Given the description of an element on the screen output the (x, y) to click on. 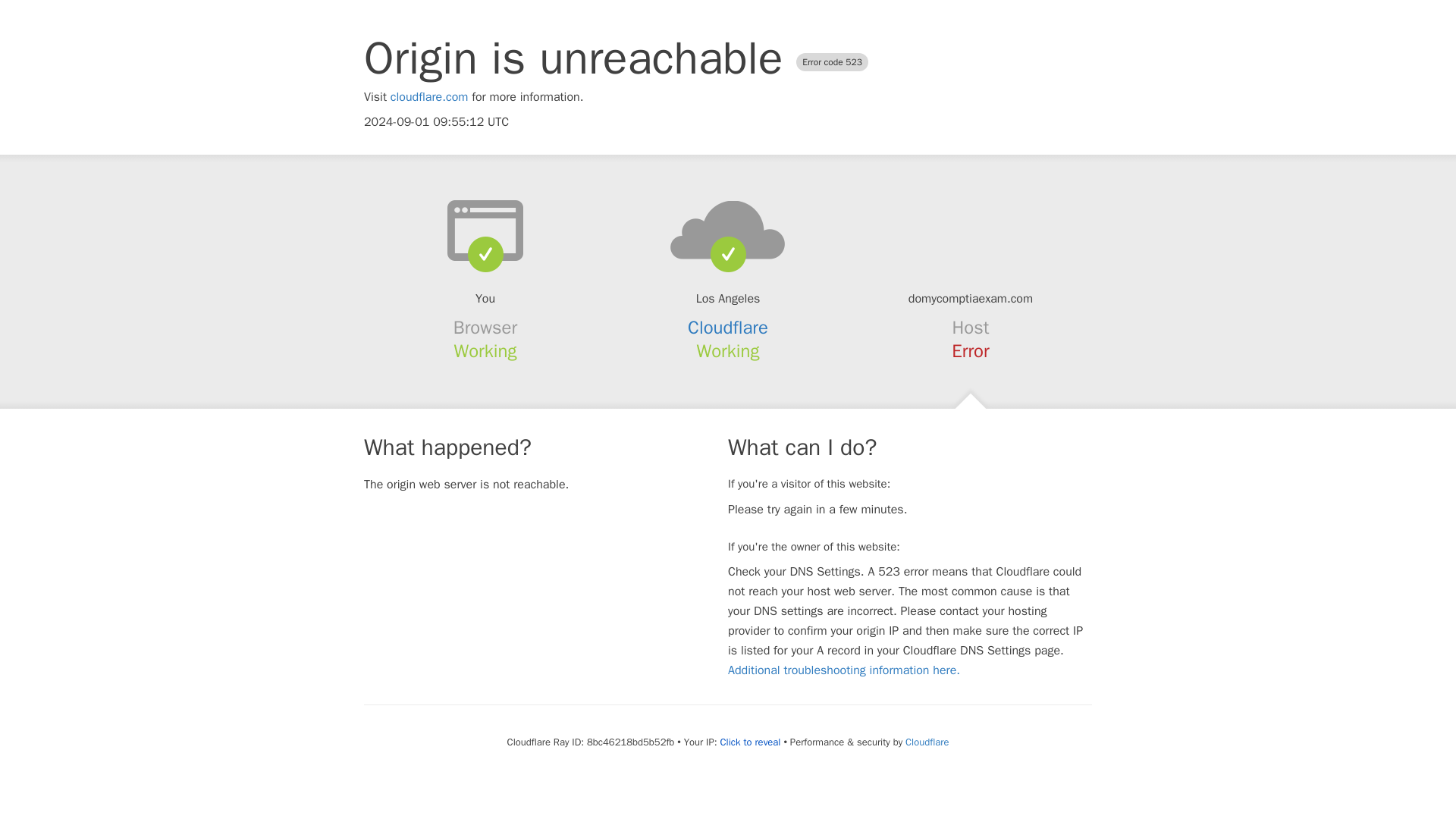
Click to reveal (750, 742)
Additional troubleshooting information here. (843, 670)
Cloudflare (927, 741)
Cloudflare (727, 327)
cloudflare.com (429, 96)
